Given the description of an element on the screen output the (x, y) to click on. 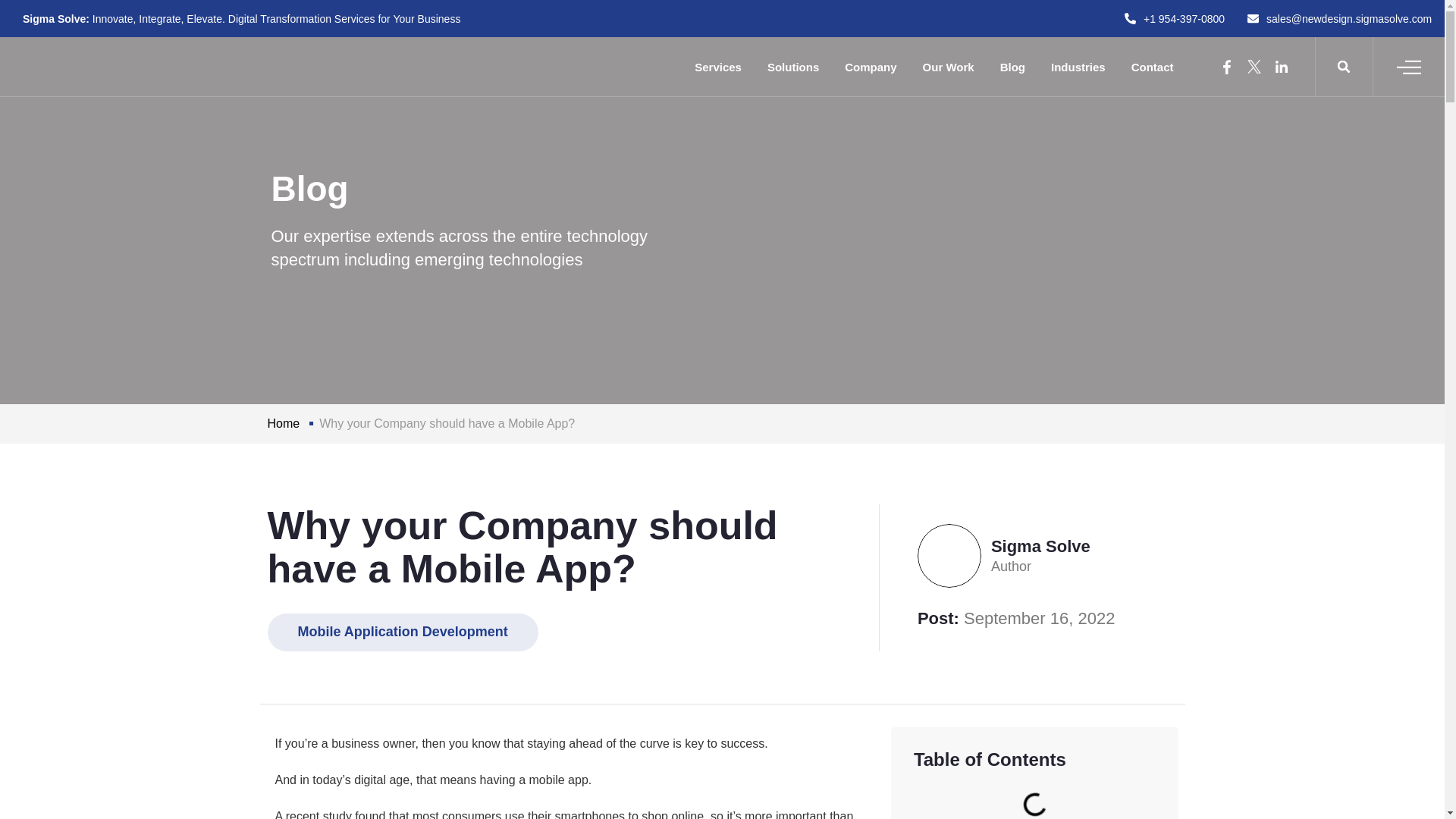
Solutions (792, 66)
Services (717, 66)
